Given the description of an element on the screen output the (x, y) to click on. 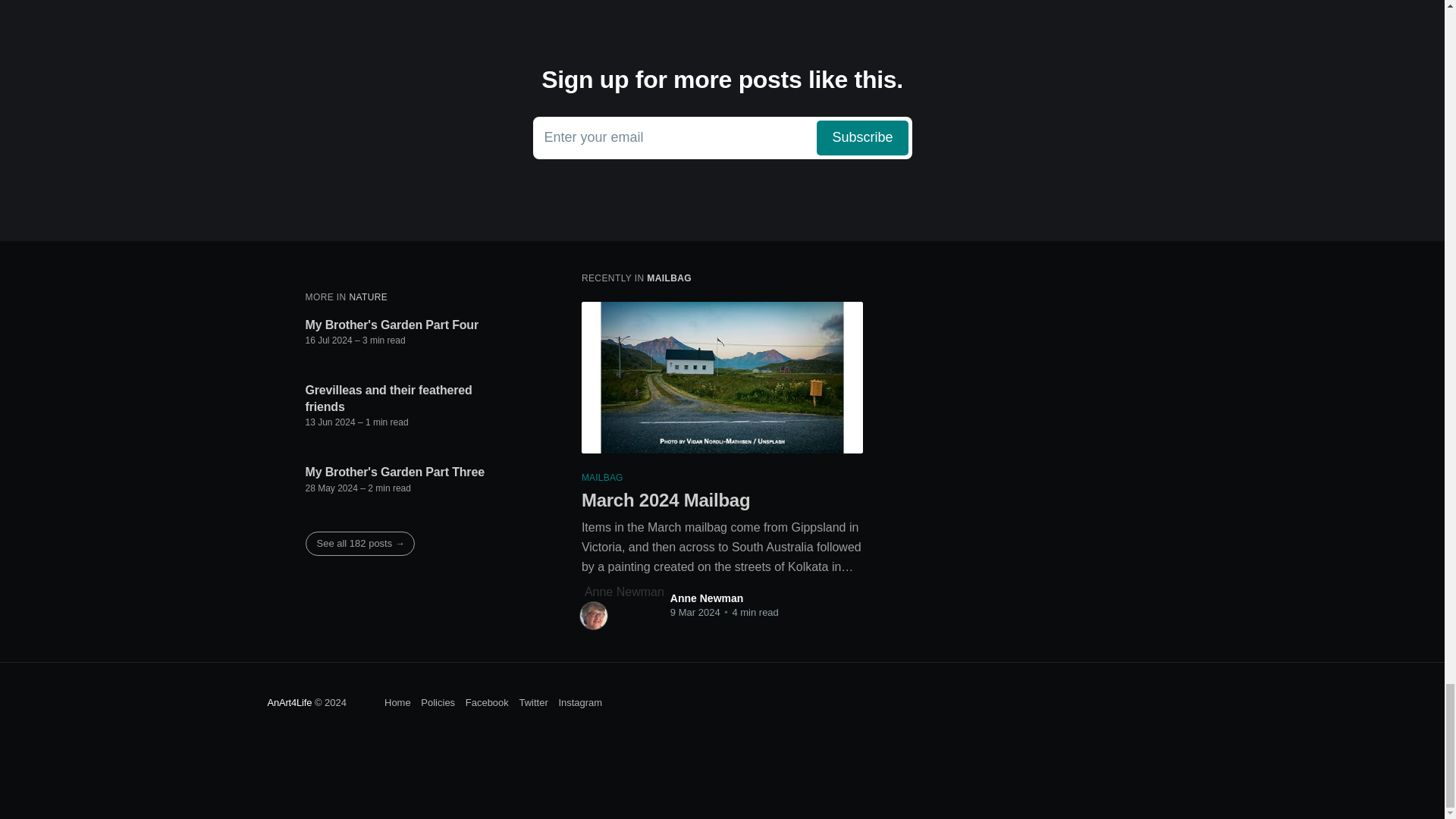
Home (397, 702)
Anne Newman (705, 598)
MAILBAG (668, 277)
Instagram (579, 702)
Facebook (486, 702)
Policies (437, 702)
Grevilleas and their feathered friends (407, 398)
AnArt4Life (288, 702)
NATURE (368, 296)
My Brother's Garden Part Four (391, 324)
